Given the description of an element on the screen output the (x, y) to click on. 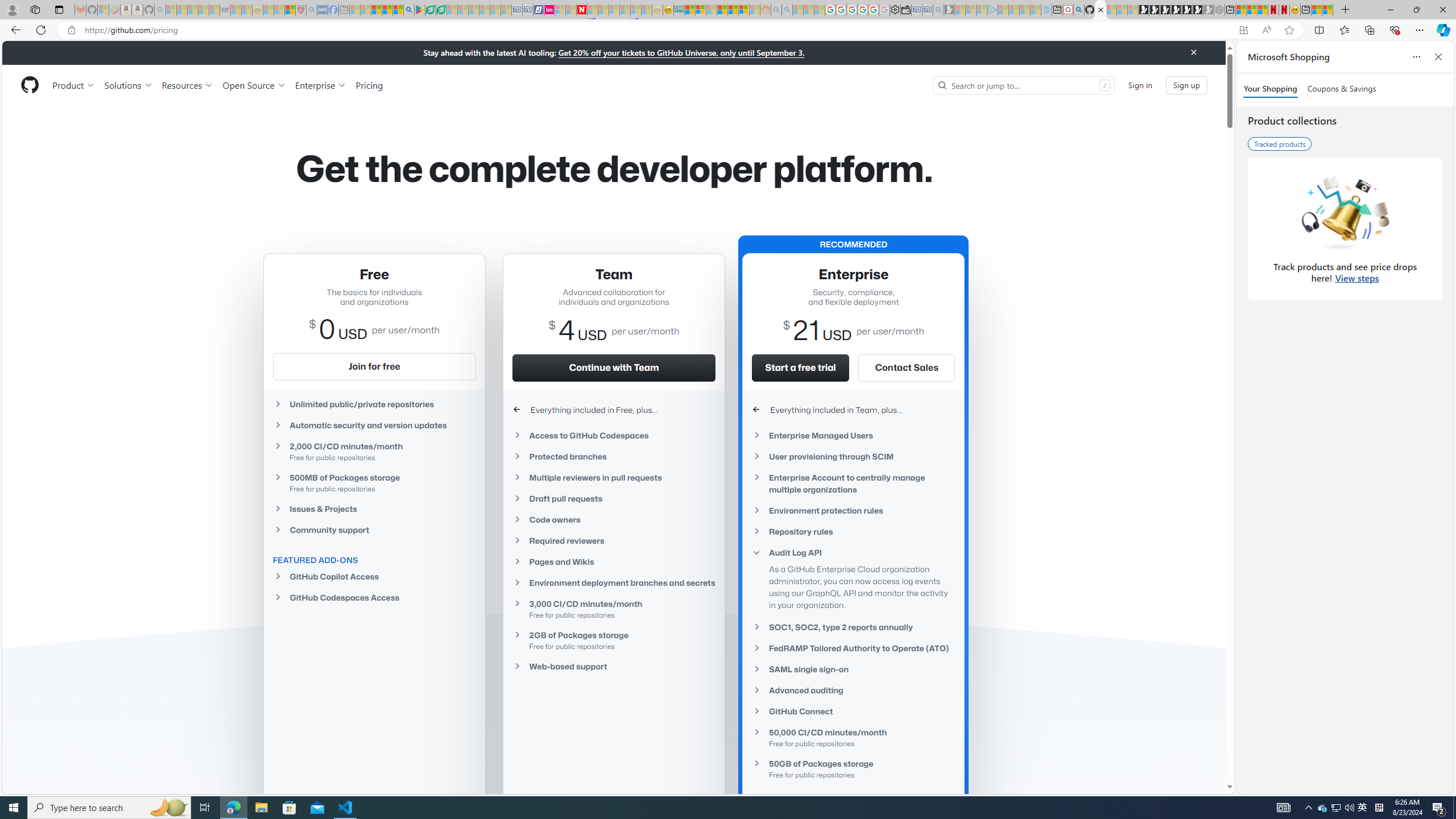
Issues & Projects (374, 508)
Environment deployment branches and secrets (614, 582)
Wallet (905, 9)
Web-based support (614, 666)
Enterprise Managed Users (853, 435)
Continue with Team (614, 367)
Resources (187, 84)
Join for free (374, 366)
GitHub Connect (853, 711)
